Given the description of an element on the screen output the (x, y) to click on. 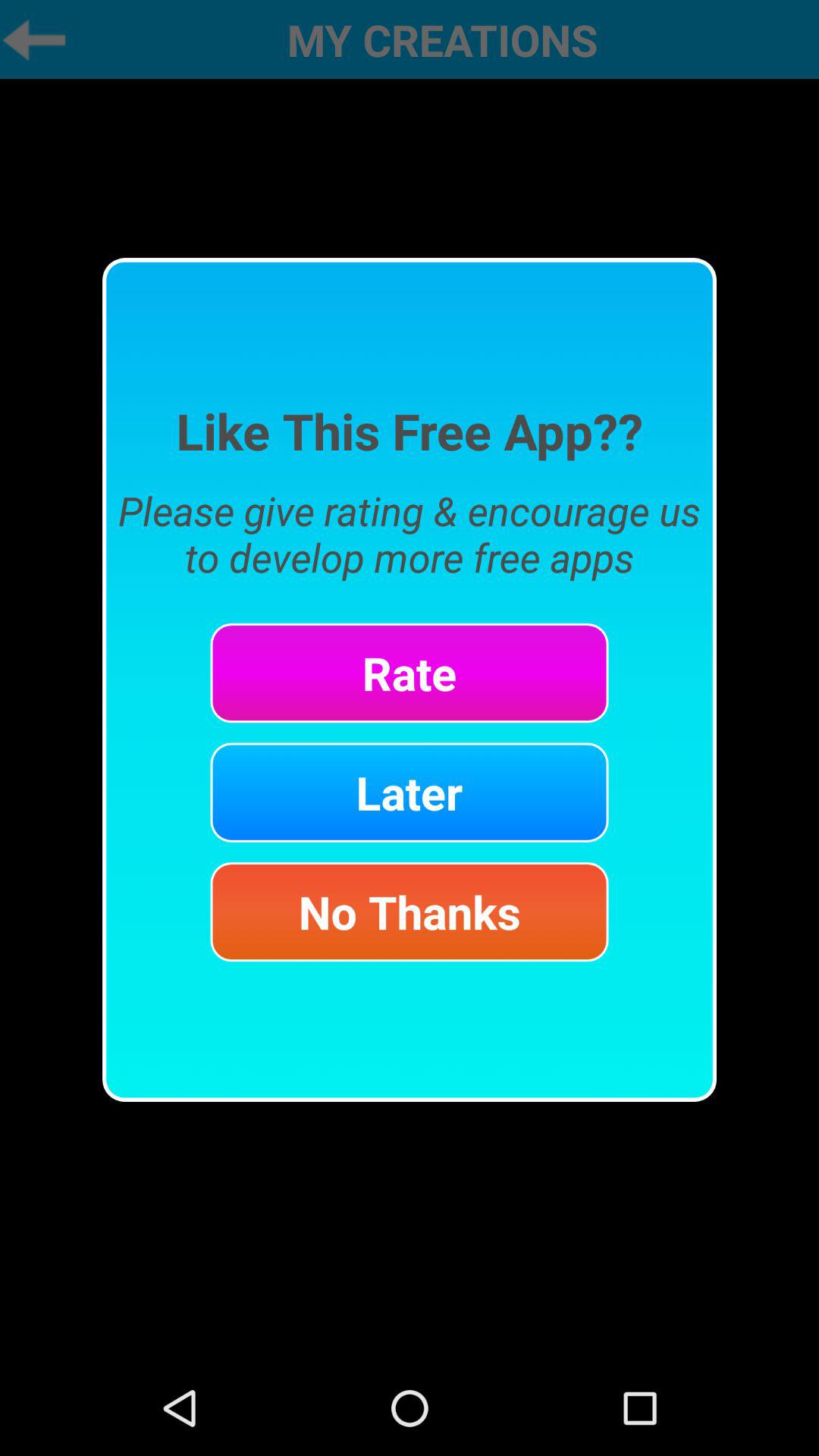
choose rate button (409, 672)
